Given the description of an element on the screen output the (x, y) to click on. 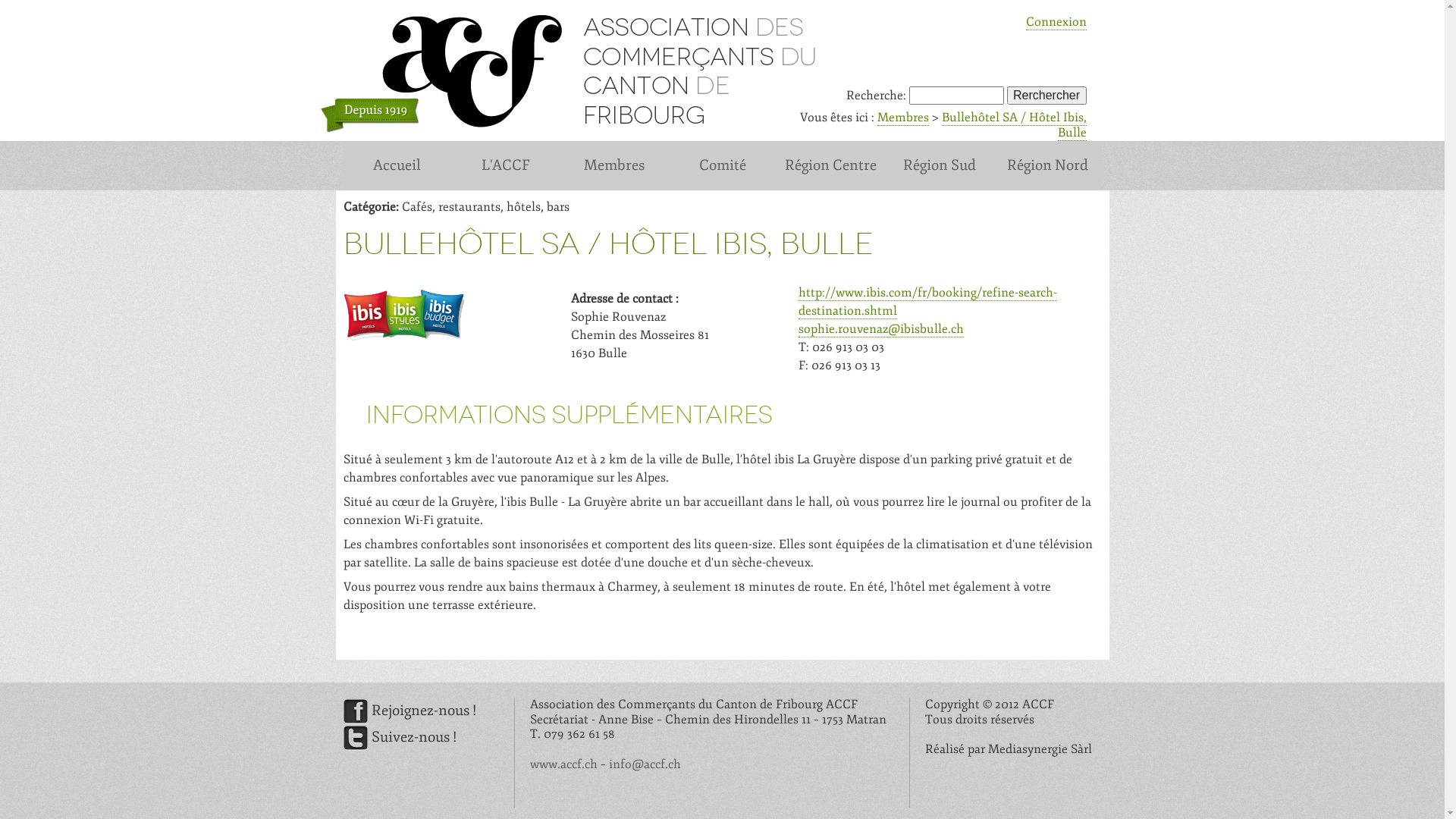
Rejoignez-nous ! Element type: text (408, 710)
Connexion Element type: text (1055, 22)
Membres Element type: text (902, 117)
Accueil Element type: text (396, 165)
www.accf.ch Element type: text (562, 763)
info@accf.ch Element type: text (644, 763)
Membres Element type: text (613, 165)
sophie.rouvenaz@ibisbulle.ch Element type: text (880, 329)
L'ACCF Element type: text (505, 165)
Suivez-nous ! Element type: text (398, 737)
Rerchercher Element type: text (1046, 95)
